Given the description of an element on the screen output the (x, y) to click on. 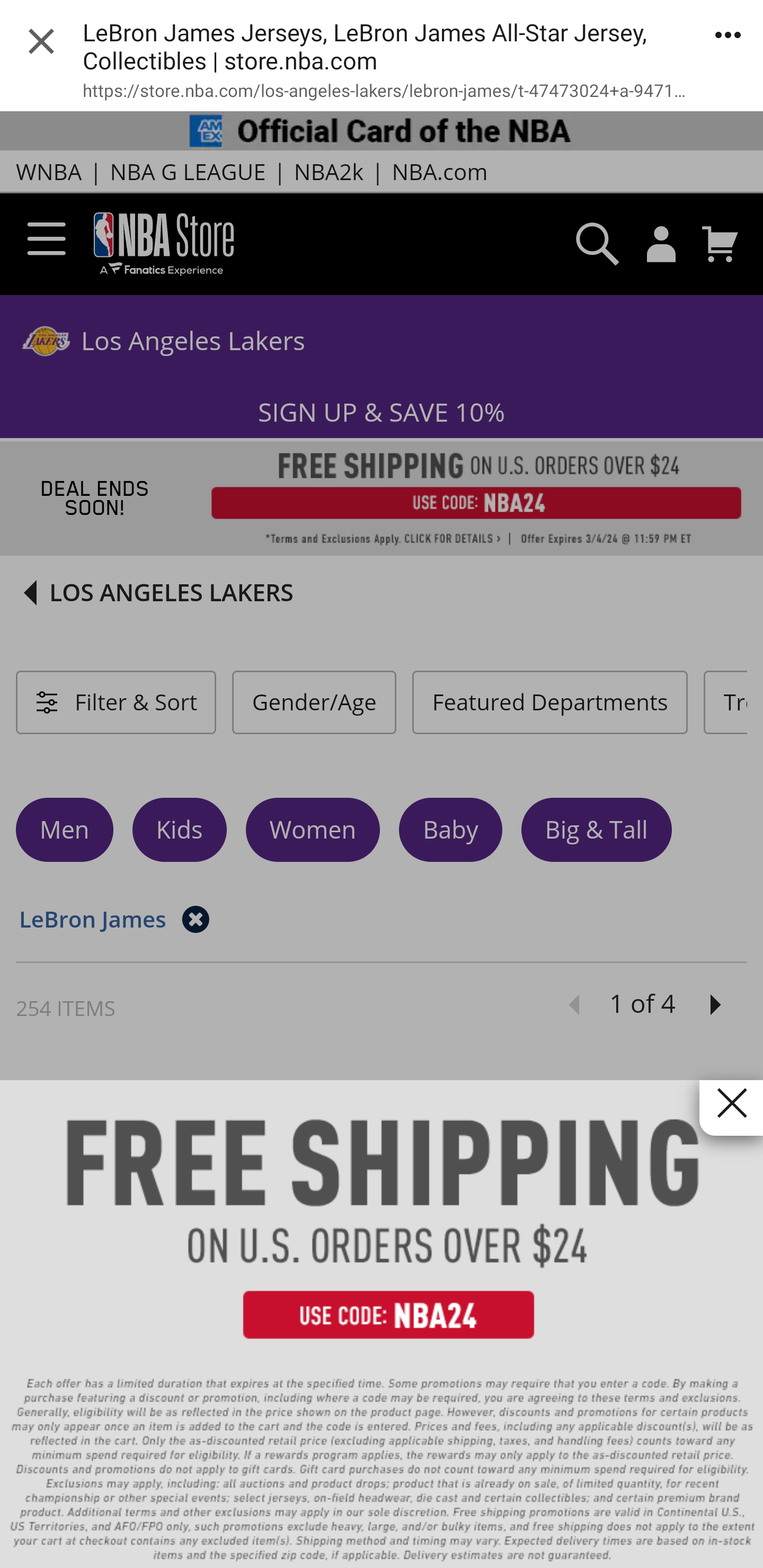
 (731, 1107)
